Given the description of an element on the screen output the (x, y) to click on. 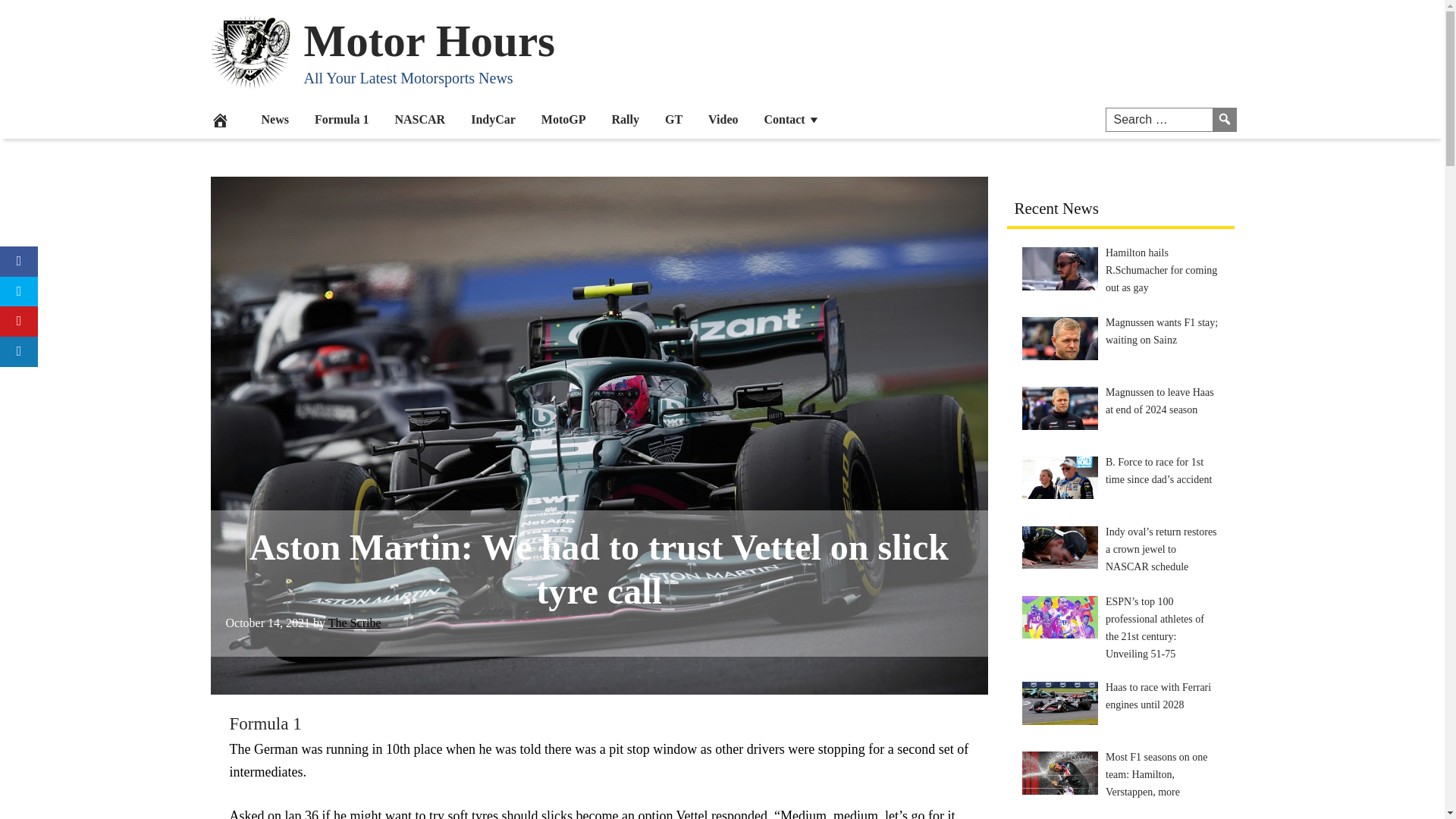
MotoGP (563, 118)
News (274, 118)
NASCAR (419, 118)
Formula 1 (341, 118)
Motor Hours (428, 40)
Contact (791, 118)
IndyCar (493, 118)
The Scribe (355, 622)
Formula 1 (264, 723)
Rally (625, 118)
GT (673, 118)
Video (723, 118)
